Given the description of an element on the screen output the (x, y) to click on. 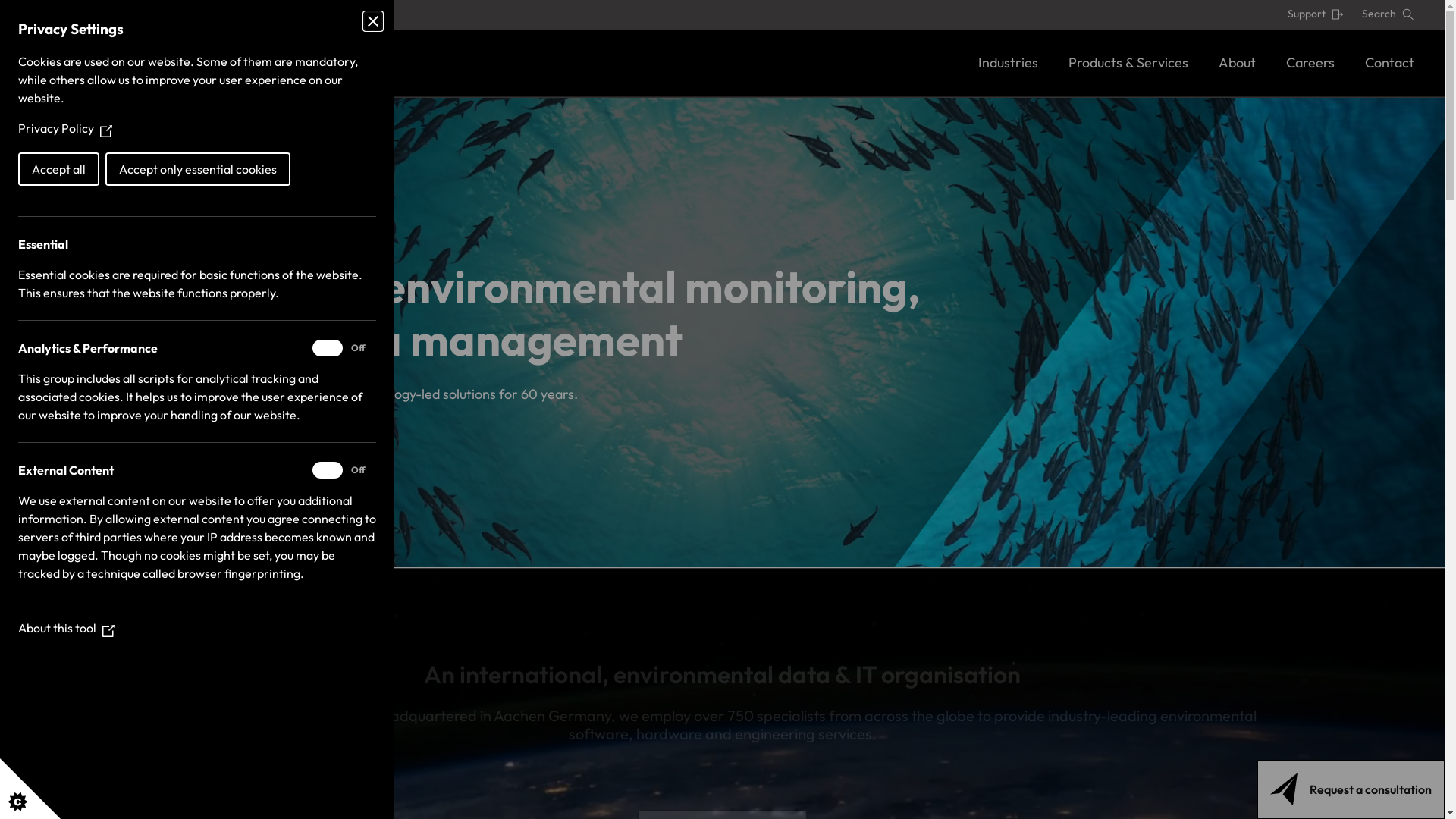
Accept all Element type: text (58, 168)
Privacy Policy
(Opens in a new window) Element type: text (65, 127)
Search Element type: text (1387, 14)
Industries Element type: text (1008, 62)
Careers Element type: text (1310, 62)
Kisters Element type: hover (203, 62)
Products & Services Element type: text (1128, 62)
Support Element type: text (1315, 14)
About this tool
(Opens in a new window) Element type: text (66, 627)
Accept only essential cookies Element type: text (197, 168)
Contact Element type: text (1389, 62)
About Element type: text (1236, 62)
